Given the description of an element on the screen output the (x, y) to click on. 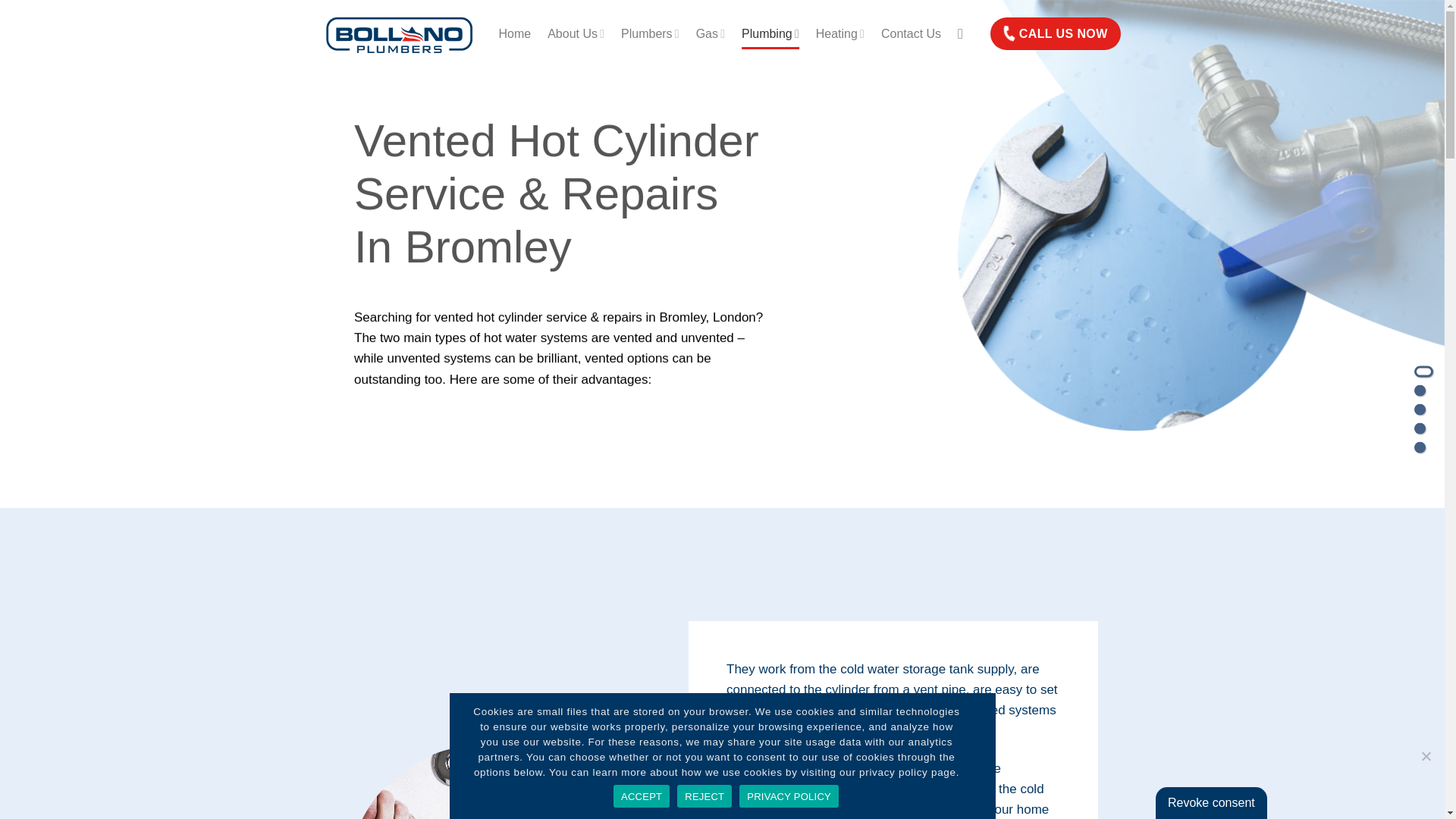
Bollano Plumbers - Always Next to You! (400, 33)
Plumbing (770, 33)
Gas (710, 33)
Plumbers (650, 33)
About Us (575, 33)
Revoke consent (1211, 802)
Home (515, 33)
